Given the description of an element on the screen output the (x, y) to click on. 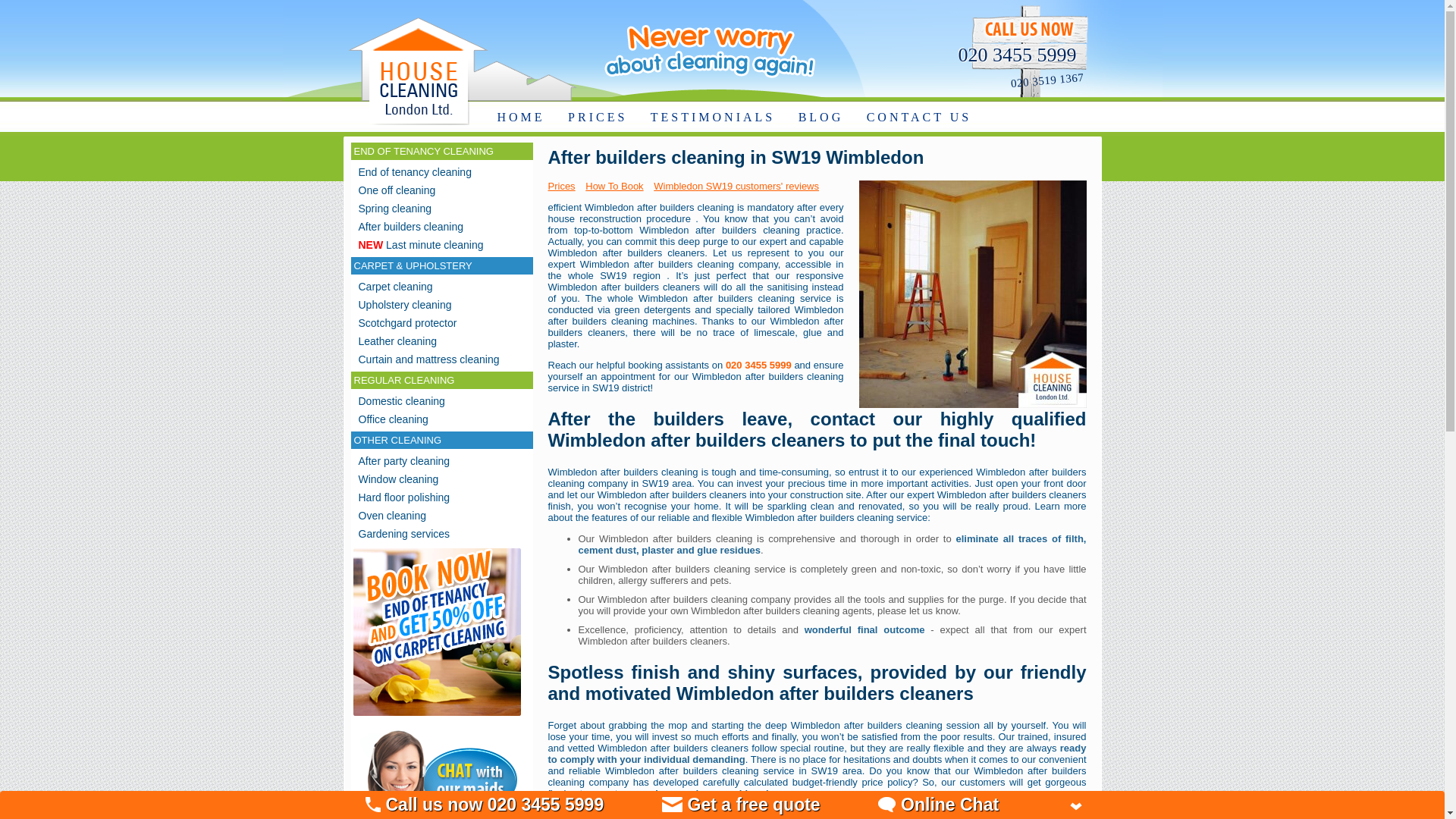
Prices (564, 185)
How To Book (617, 185)
Wimbledon SW19 customers' reviews (740, 185)
